Given the description of an element on the screen output the (x, y) to click on. 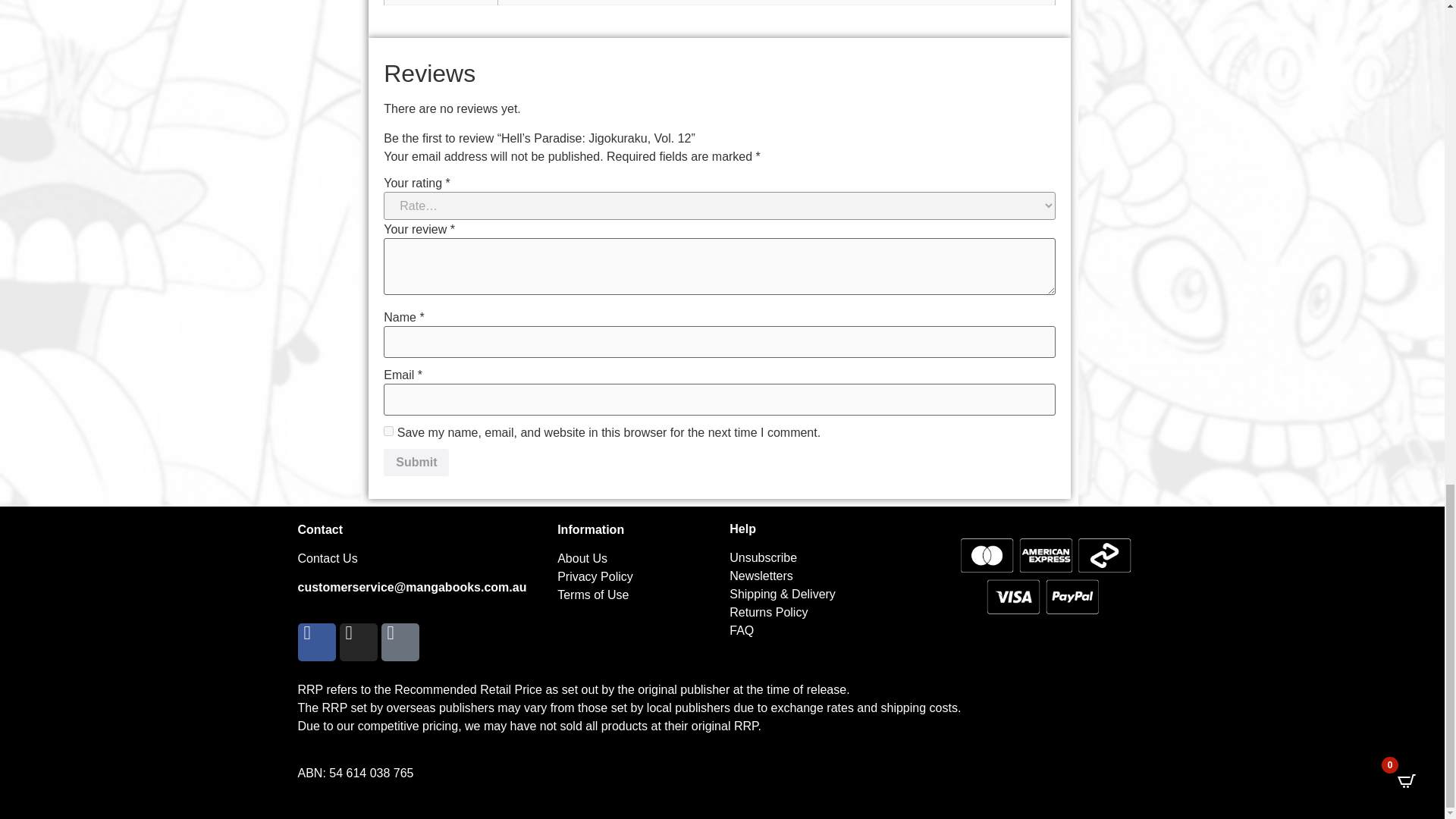
Submit (416, 461)
yes (388, 430)
